Given the description of an element on the screen output the (x, y) to click on. 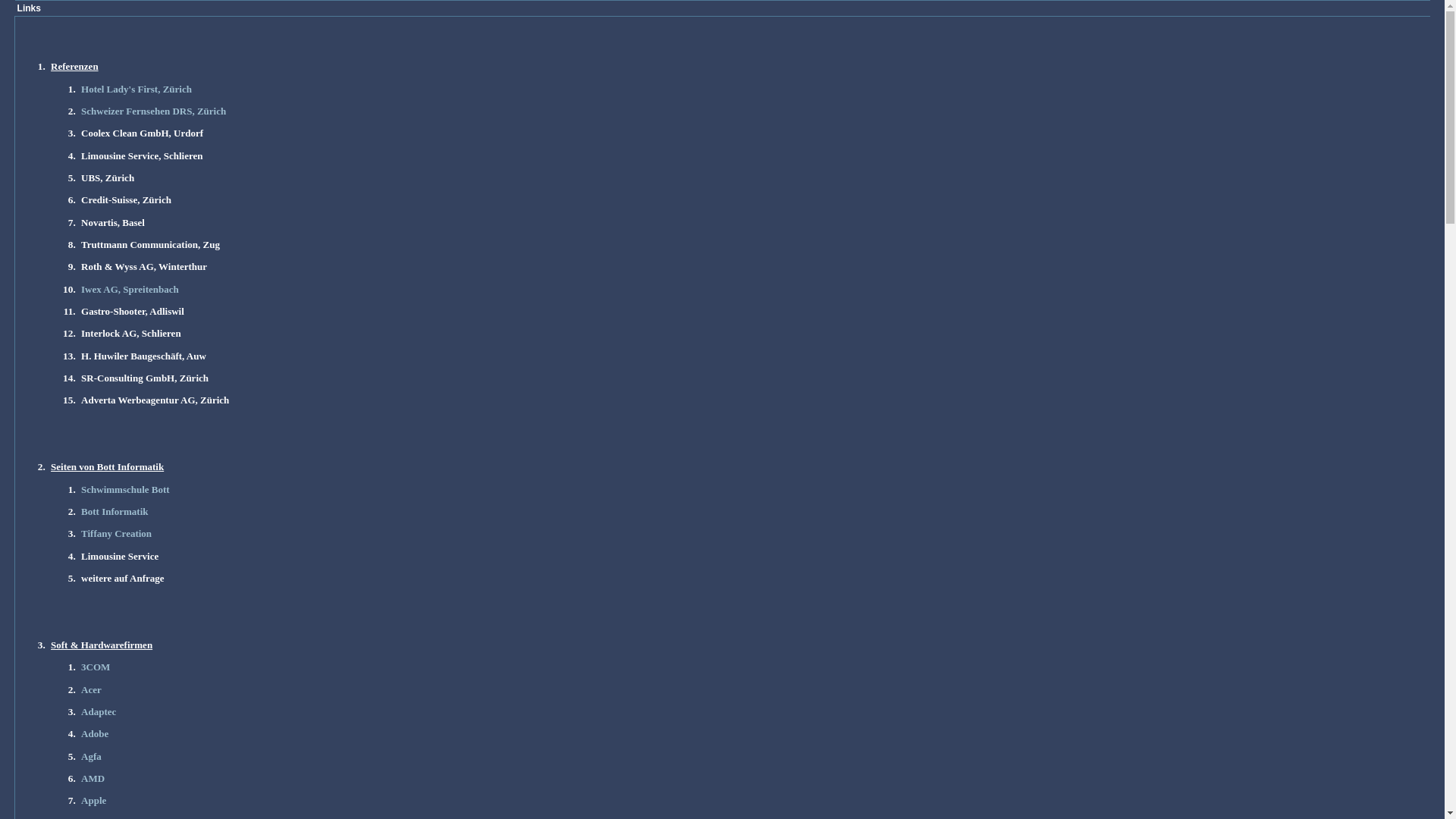
Tiffany Creation Element type: text (116, 533)
AMD Element type: text (92, 778)
Iwex AG, Spreitenbach Element type: text (129, 289)
Apple Element type: text (93, 800)
Bott Informatik Element type: text (114, 511)
Acer Element type: text (91, 689)
Schwimmschule Bott Element type: text (125, 489)
Adaptec Element type: text (98, 711)
Adobe Element type: text (94, 733)
Agfa Element type: text (91, 755)
3COM Element type: text (95, 667)
